Given the description of an element on the screen output the (x, y) to click on. 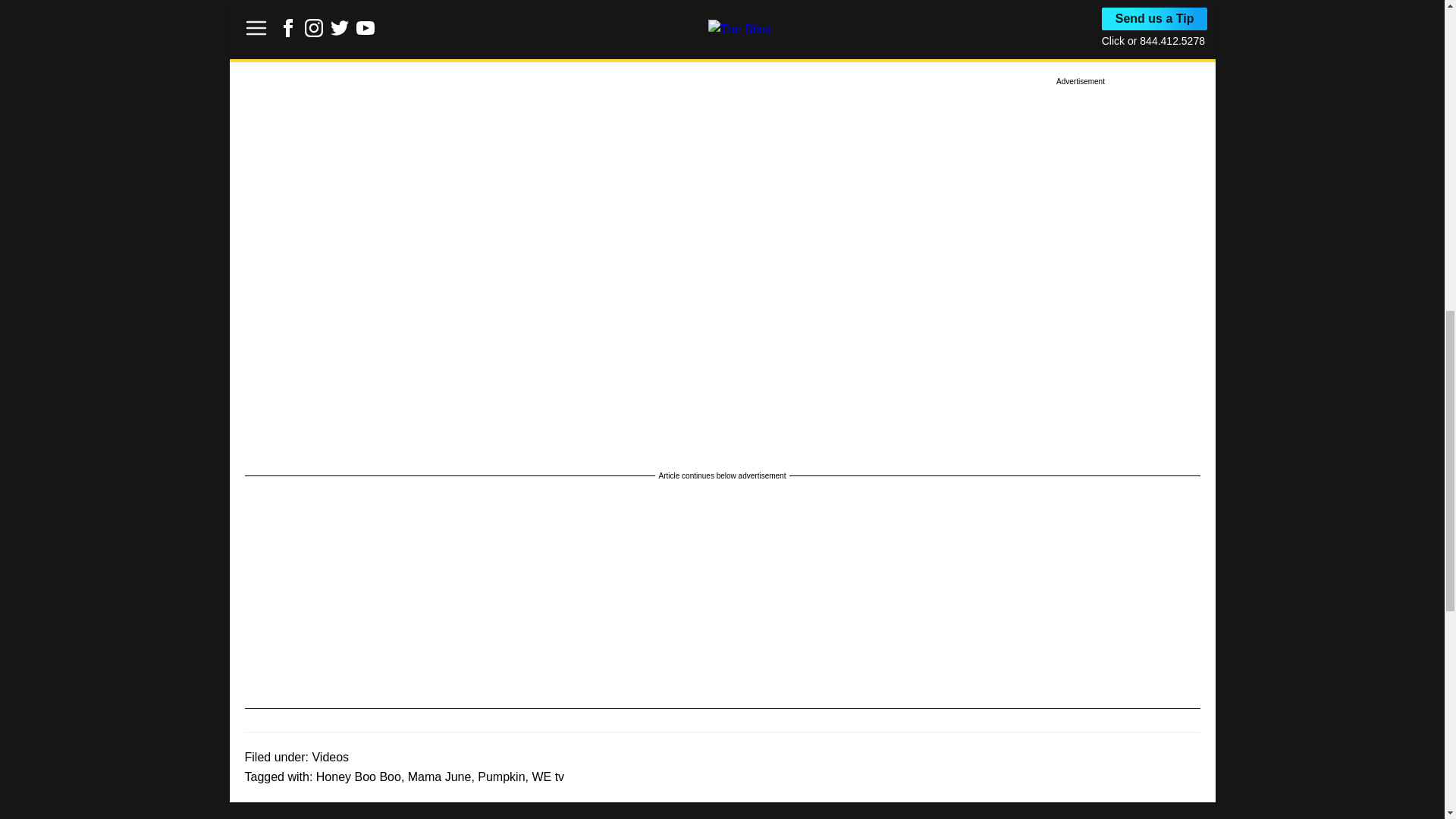
Mama June (439, 776)
Honey Boo Boo (358, 776)
Pumpkin (500, 776)
WE tv (547, 776)
Videos (330, 757)
